Given the description of an element on the screen output the (x, y) to click on. 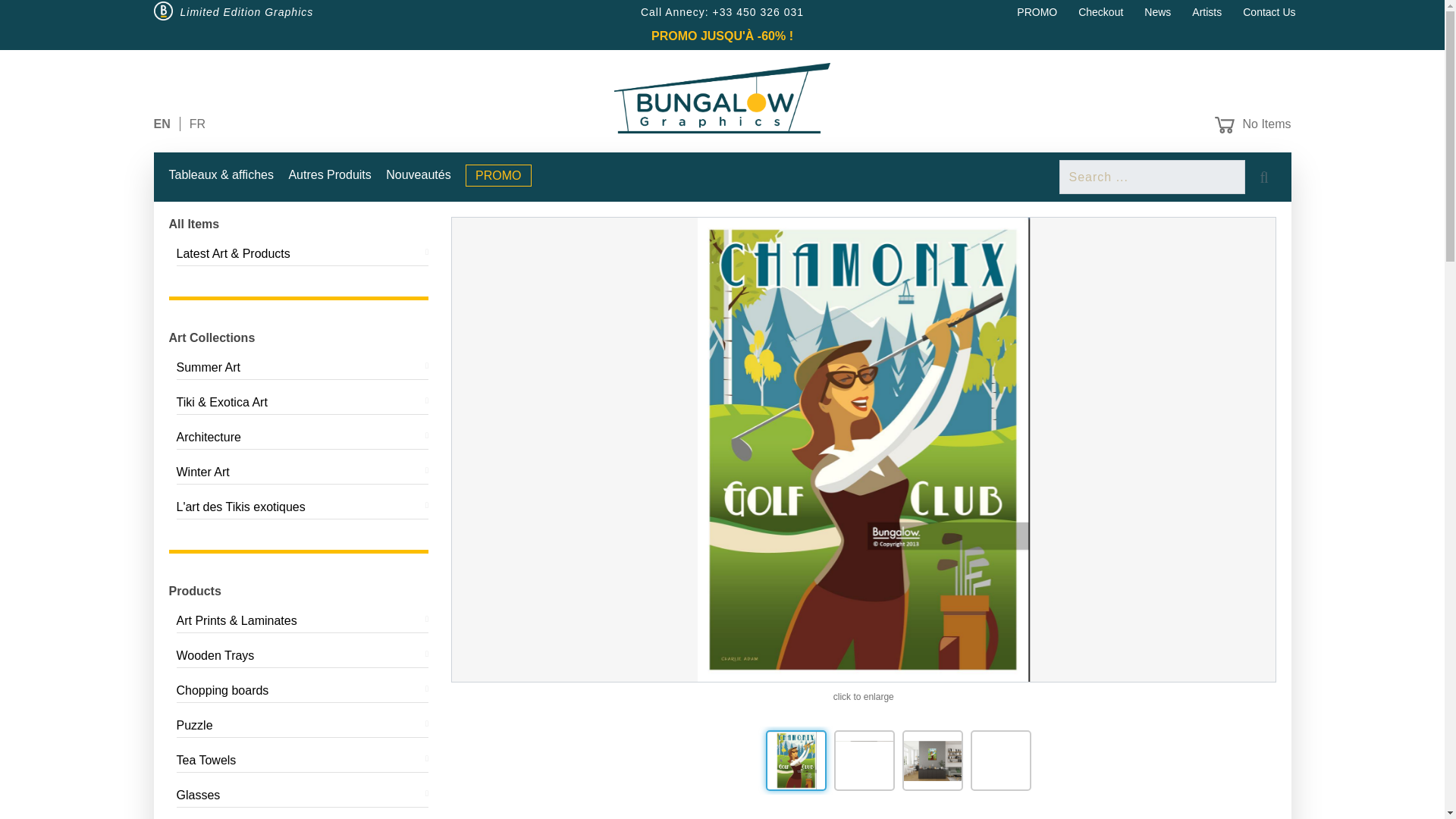
Limited Edition Graphics (247, 11)
PROMO (1036, 11)
News (1157, 11)
Contact Us (1269, 11)
Checkout (1100, 11)
Artists (1206, 11)
